Given the description of an element on the screen output the (x, y) to click on. 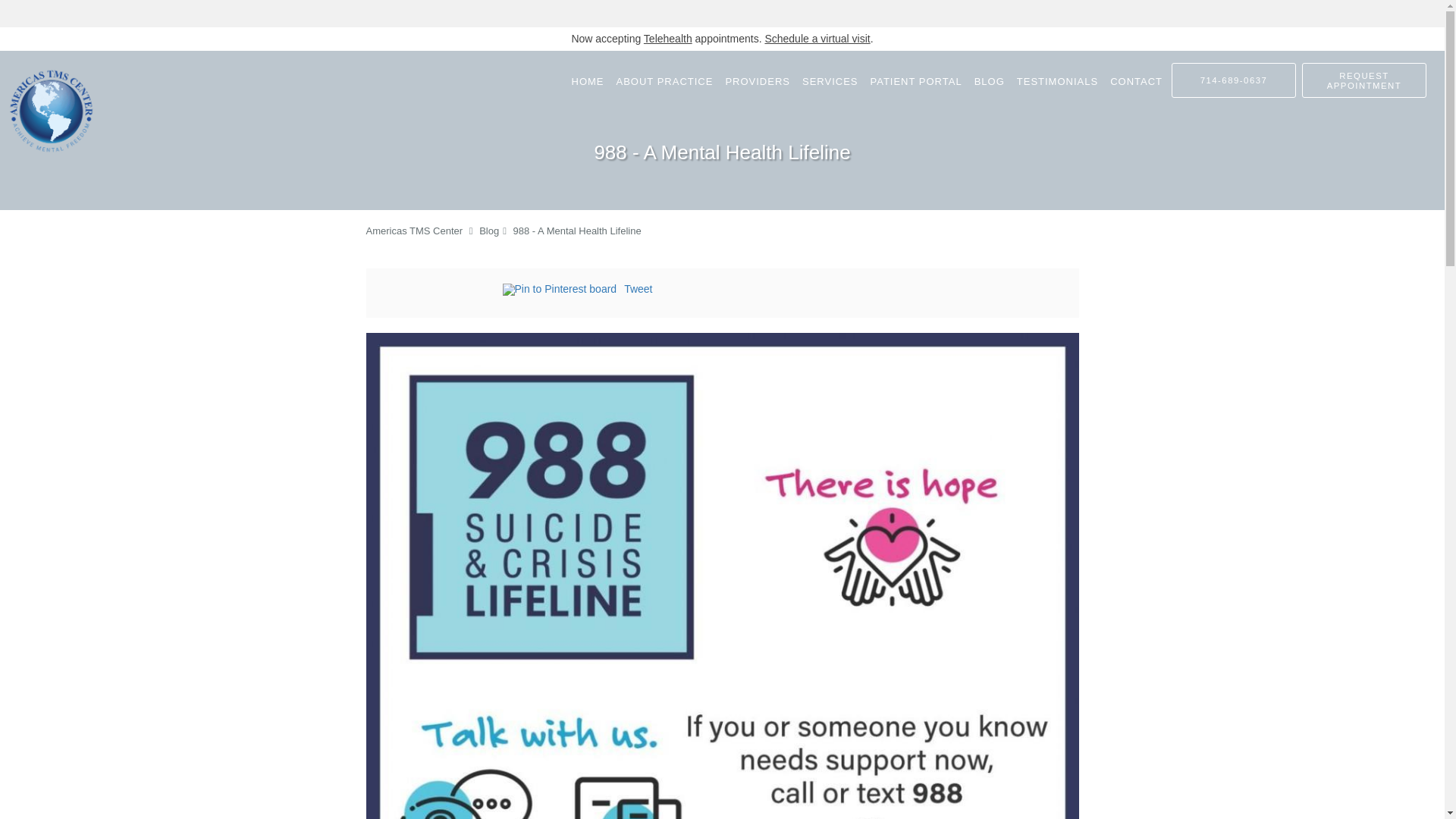
ABOUT PRACTICE (664, 80)
714-689-0637 (1233, 80)
Facebook social button (441, 291)
Telehealth (668, 38)
PATIENT PORTAL (915, 80)
TESTIMONIALS (1056, 80)
CONTACT (1136, 80)
Skip to main content (74, 57)
SERVICES (830, 80)
Schedule a virtual visit (816, 38)
PROVIDERS (757, 80)
REQUEST APPOINTMENT (1363, 80)
